Given the description of an element on the screen output the (x, y) to click on. 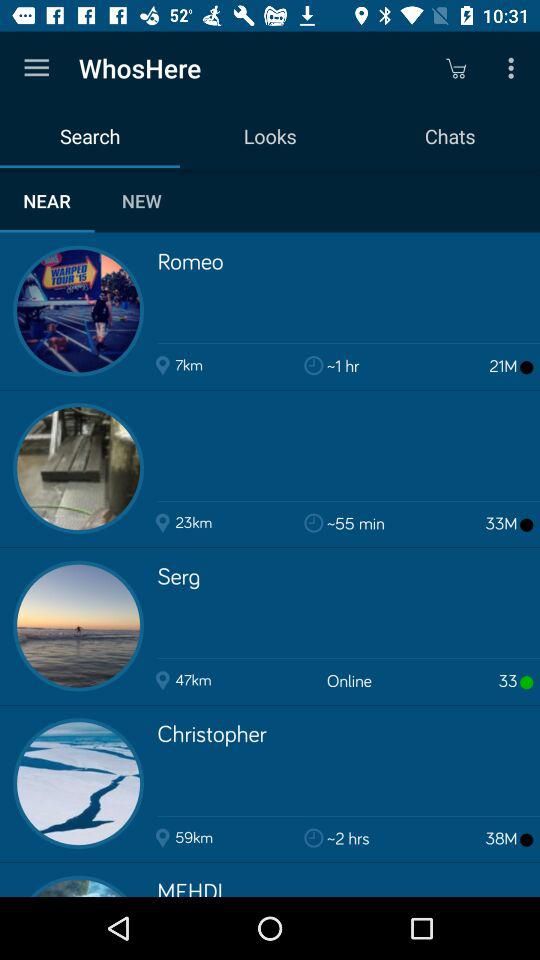
turn on icon next to the looks icon (455, 67)
